Given the description of an element on the screen output the (x, y) to click on. 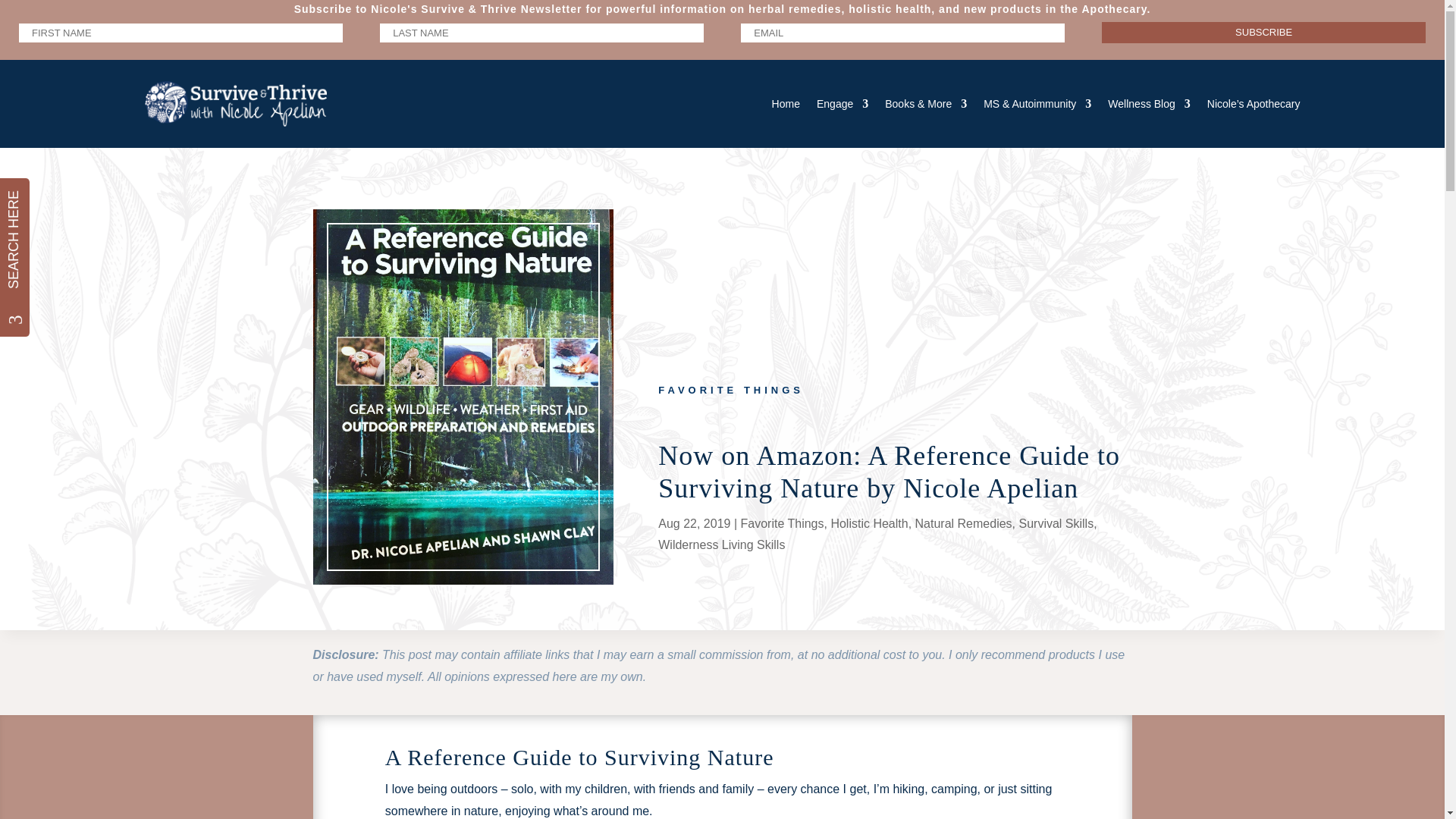
Home (785, 103)
Wellness Blog (1148, 103)
Engage (841, 103)
Opens in a new window (1253, 103)
SUBSCRIBE (1263, 32)
